Given the description of an element on the screen output the (x, y) to click on. 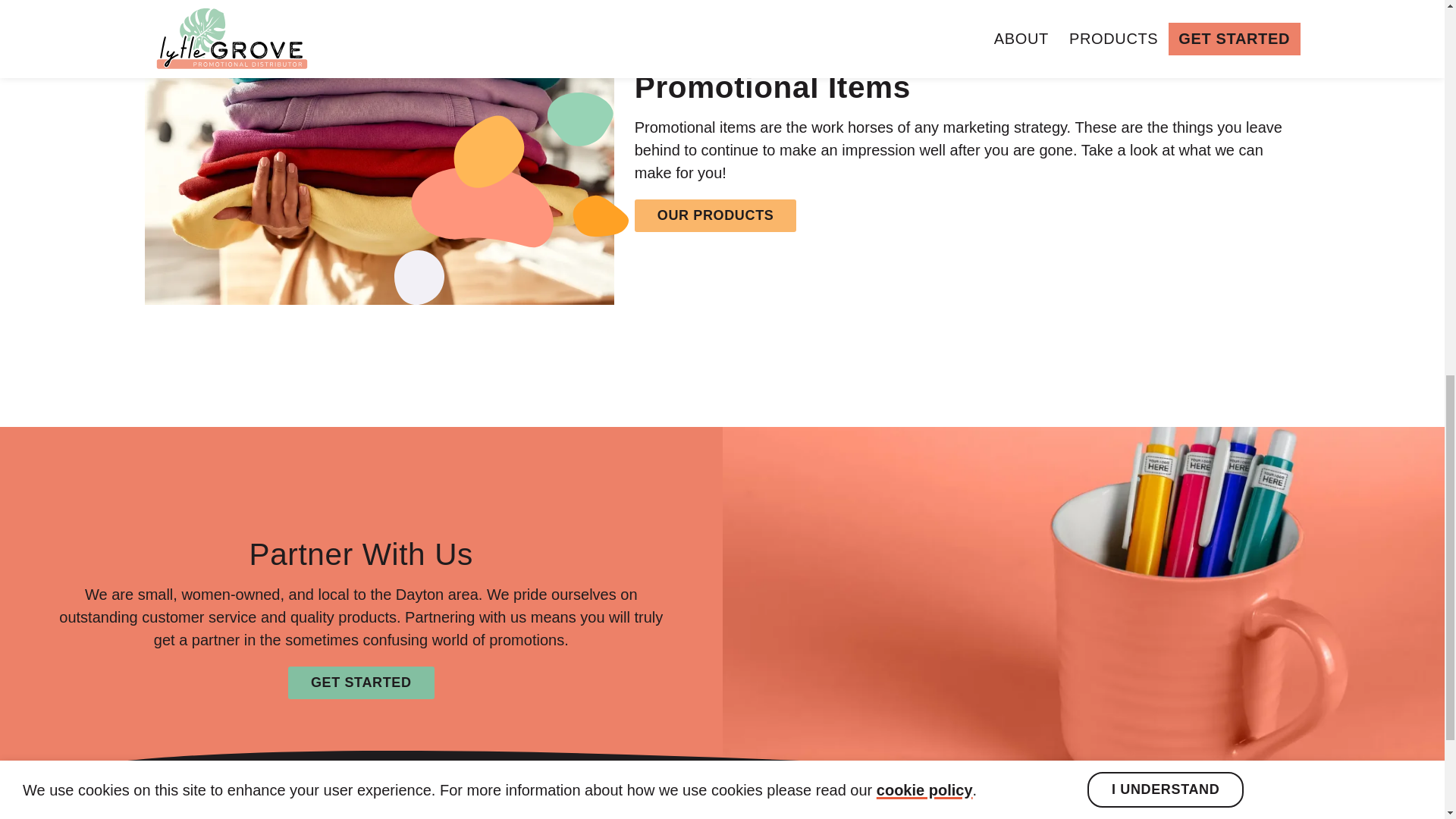
OUR PRODUCTS (715, 215)
GET STARTED (360, 682)
